Given the description of an element on the screen output the (x, y) to click on. 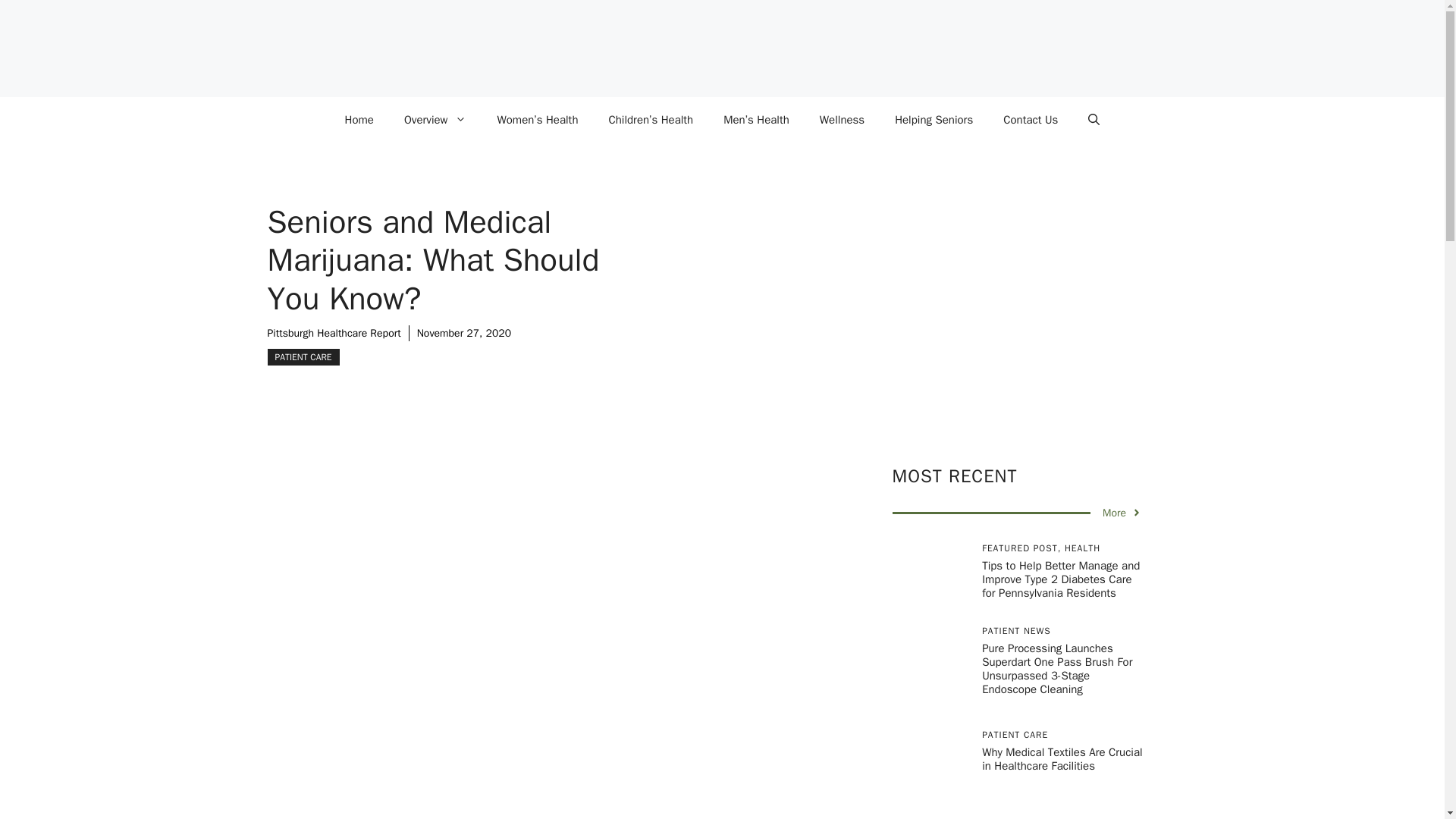
PATIENT CARE (302, 356)
Overview (434, 119)
Why Medical Textiles Are Crucial in Healthcare Facilities (1061, 759)
Pittsburgh Healthcare Report (333, 332)
More (1121, 512)
Contact Us (1030, 119)
Helping Seniors (933, 119)
